Given the description of an element on the screen output the (x, y) to click on. 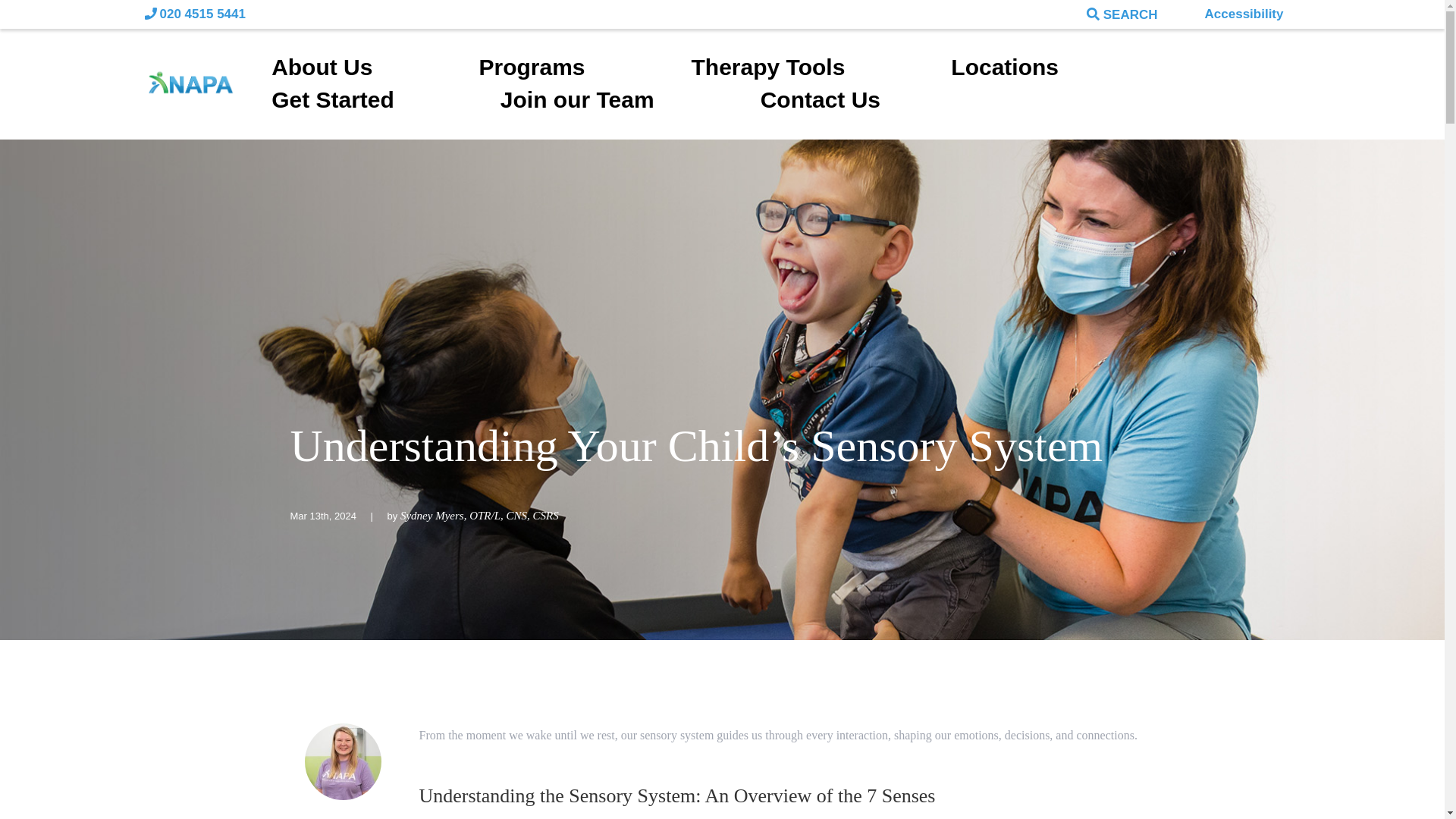
Therapy Tools (821, 67)
Programs (584, 67)
About Us (374, 67)
Accessibility (1237, 14)
Locations (1057, 67)
020 4515 5441 (194, 13)
SEARCH (920, 14)
NAPA (189, 82)
